Given the description of an element on the screen output the (x, y) to click on. 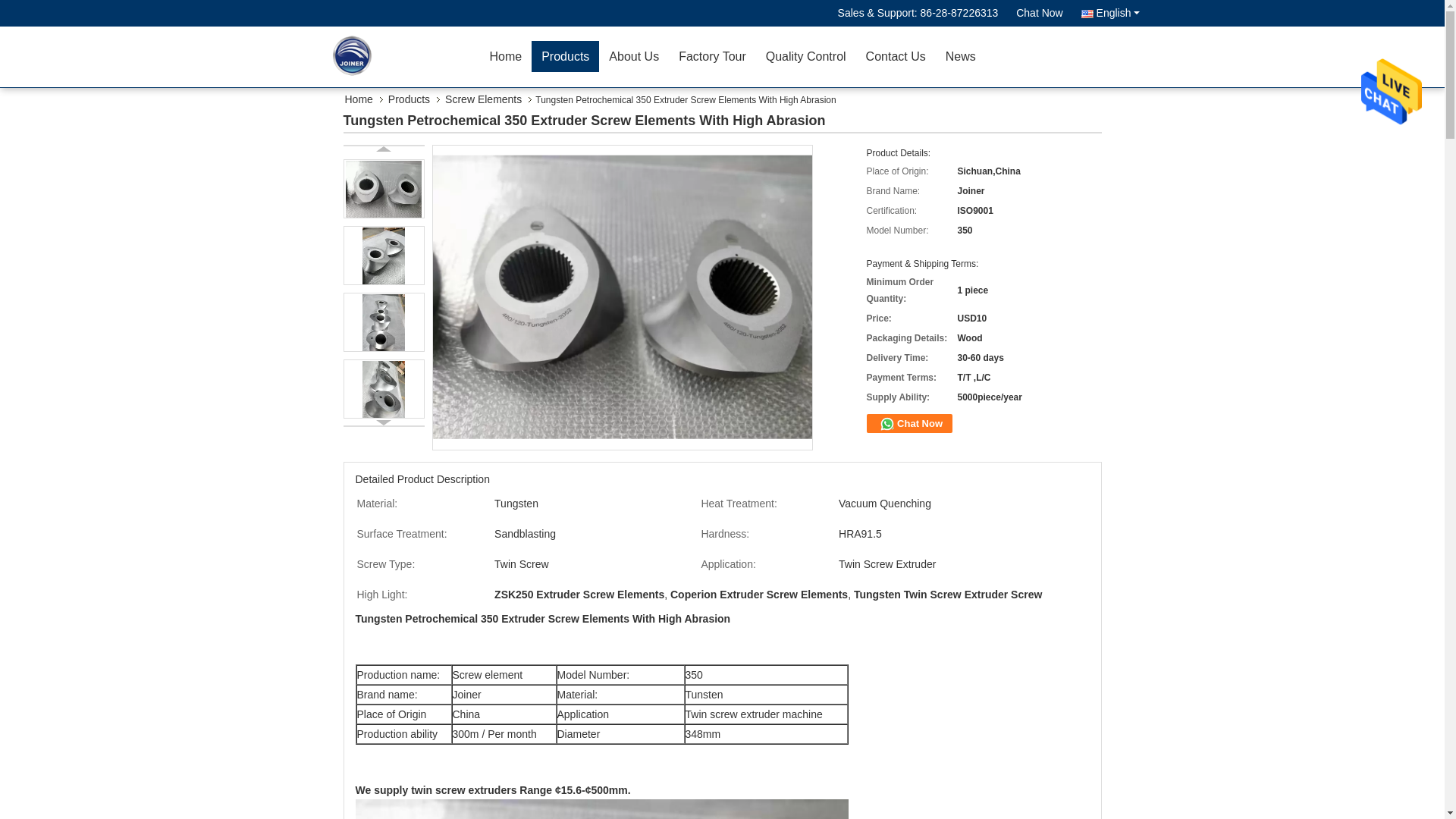
Products (564, 56)
Home (505, 56)
Joiner Machinery Co., Ltd. (1039, 13)
Chat Now (1039, 13)
English (1110, 13)
Quality Control (805, 56)
Factory Tour (711, 56)
About Us (633, 56)
